Given the description of an element on the screen output the (x, y) to click on. 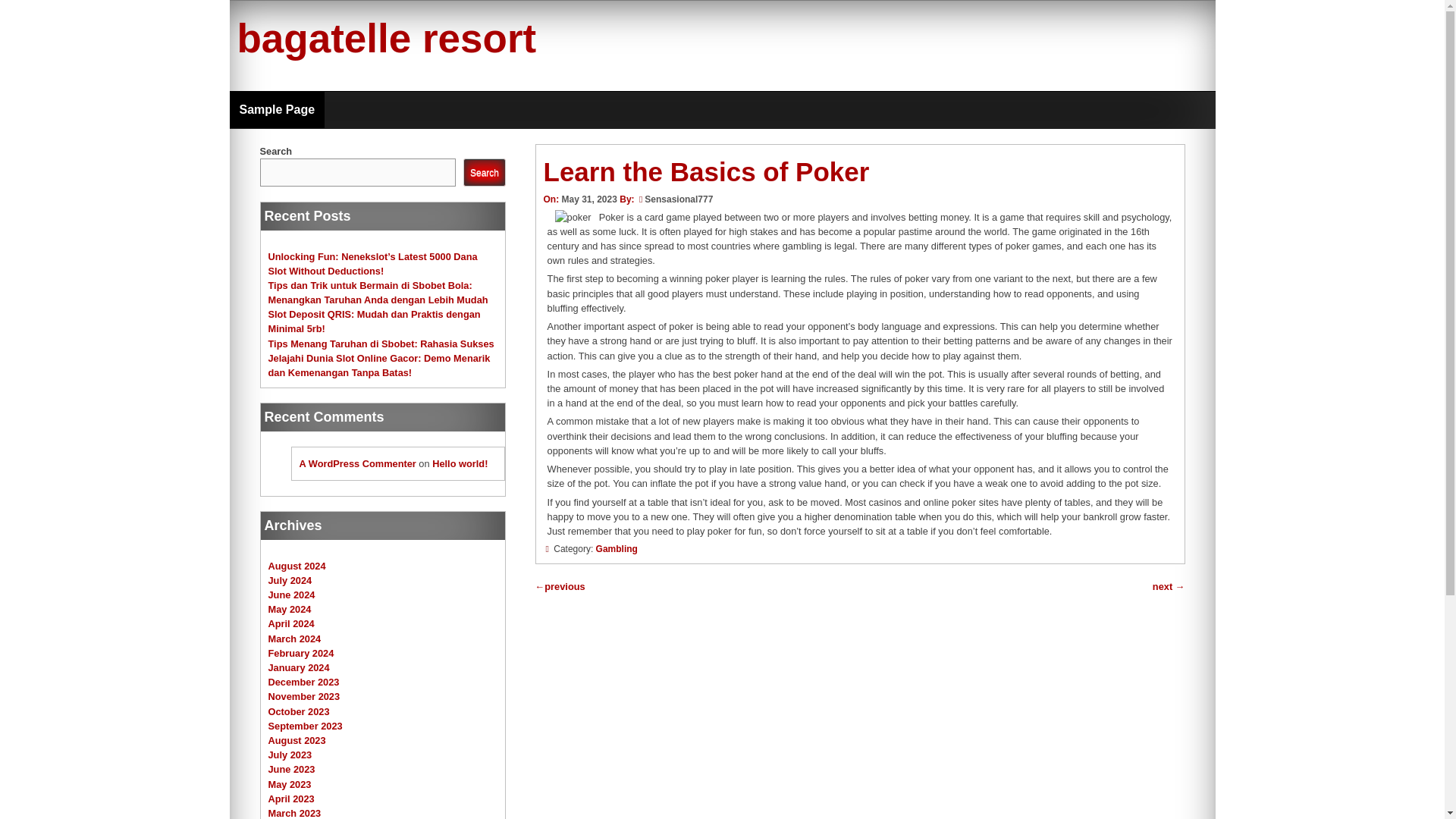
July 2023 (290, 754)
April 2023 (290, 798)
April 2024 (290, 623)
August 2023 (296, 740)
August 2024 (296, 565)
October 2023 (298, 711)
Sensasional777 (679, 199)
Gambling (616, 548)
Tips Menang Taruhan di Sbobet: Rahasia Sukses (381, 343)
